Given the description of an element on the screen output the (x, y) to click on. 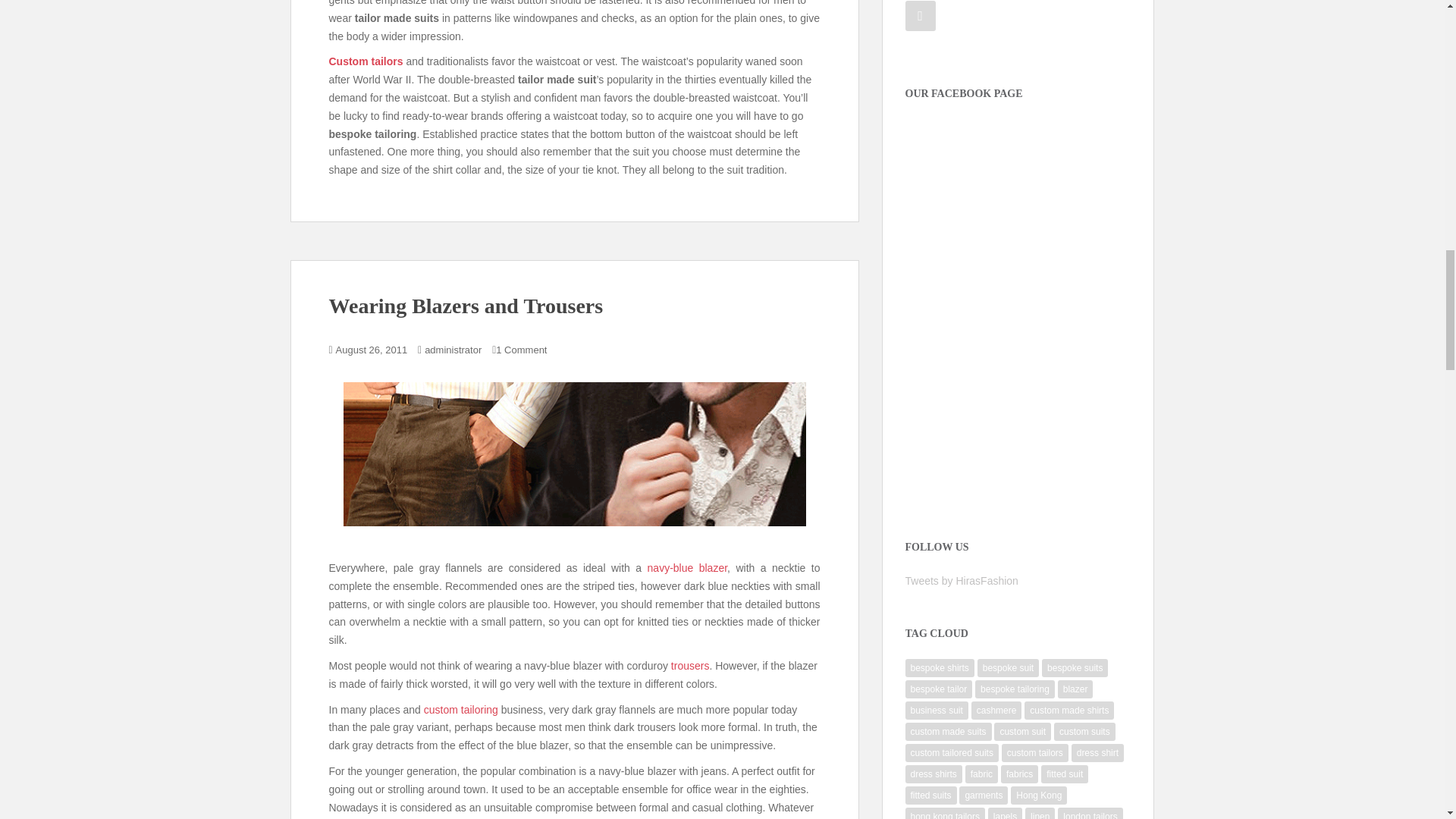
administrator (453, 349)
trousers (690, 665)
Custom tailors (366, 61)
custom tailoring (460, 709)
Custom Tailors (366, 61)
Wearing Blazers and Trousers (573, 454)
1 Comment (521, 349)
Tailors From Hong Kong (690, 665)
Wearing Blazers and Trousers (466, 305)
August 26, 2011 (371, 349)
navy-blue blazer (687, 567)
Hong Kong Tailoring (460, 709)
Bespoke Hong Kong Tailors (687, 567)
